Given the description of an element on the screen output the (x, y) to click on. 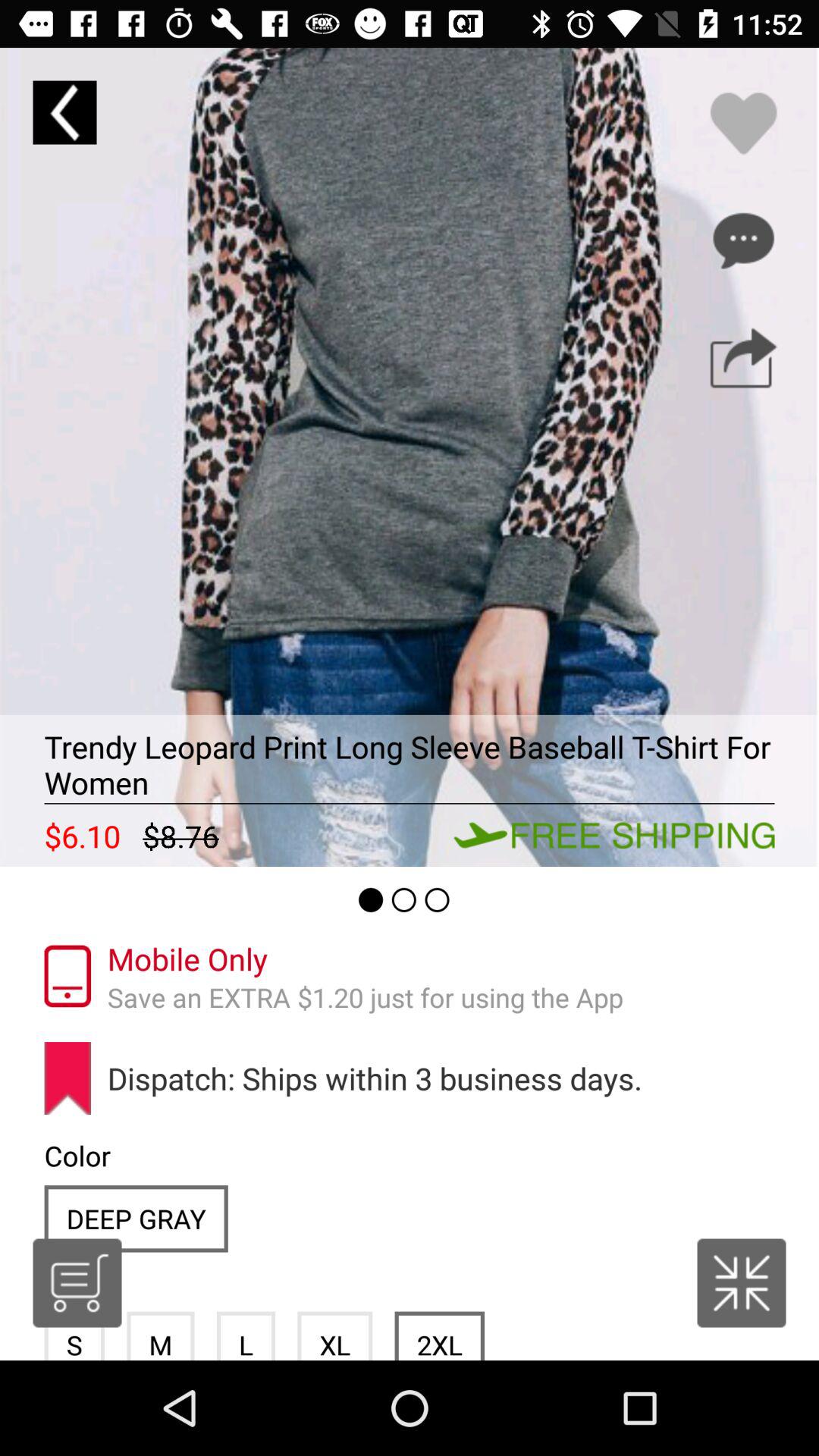
go previous (64, 112)
